Given the description of an element on the screen output the (x, y) to click on. 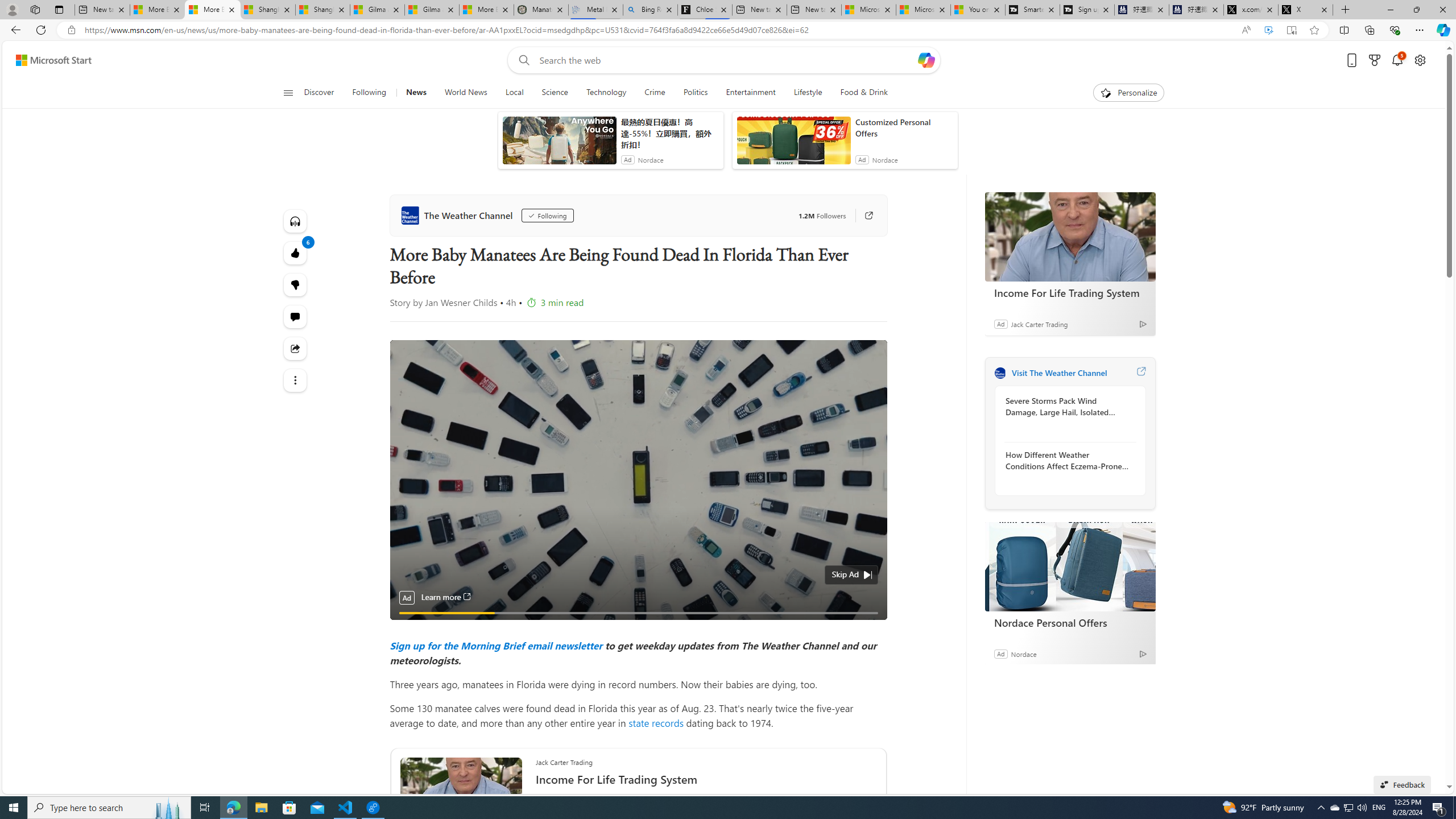
Personalize (1128, 92)
App bar (728, 29)
How Different Weather Conditions Affect Eczema-Prone Skin (1066, 459)
Enter your search term (726, 59)
News (416, 92)
Class: button-glyph (287, 92)
Web search (520, 60)
Entertainment (750, 92)
World News (465, 92)
Skip to content (49, 59)
Microsoft Start (53, 60)
